Given the description of an element on the screen output the (x, y) to click on. 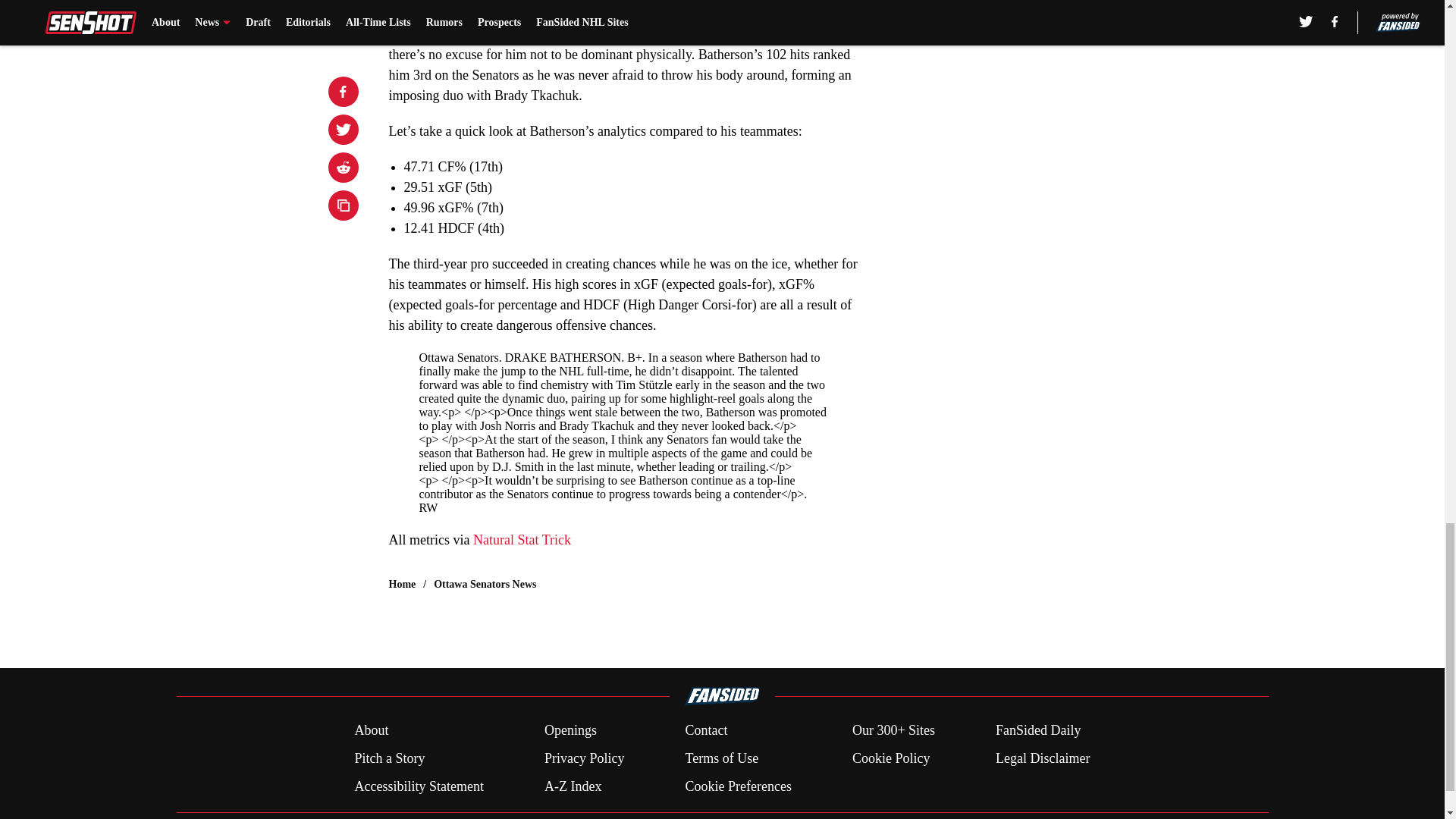
A-Z Index (572, 786)
Natural Stat Trick (521, 539)
Home (401, 584)
About (370, 730)
Cookie Preferences (737, 786)
Pitch a Story (389, 758)
FanSided Daily (1038, 730)
Ottawa Senators News (484, 584)
Privacy Policy (584, 758)
Accessibility Statement (418, 786)
